Given the description of an element on the screen output the (x, y) to click on. 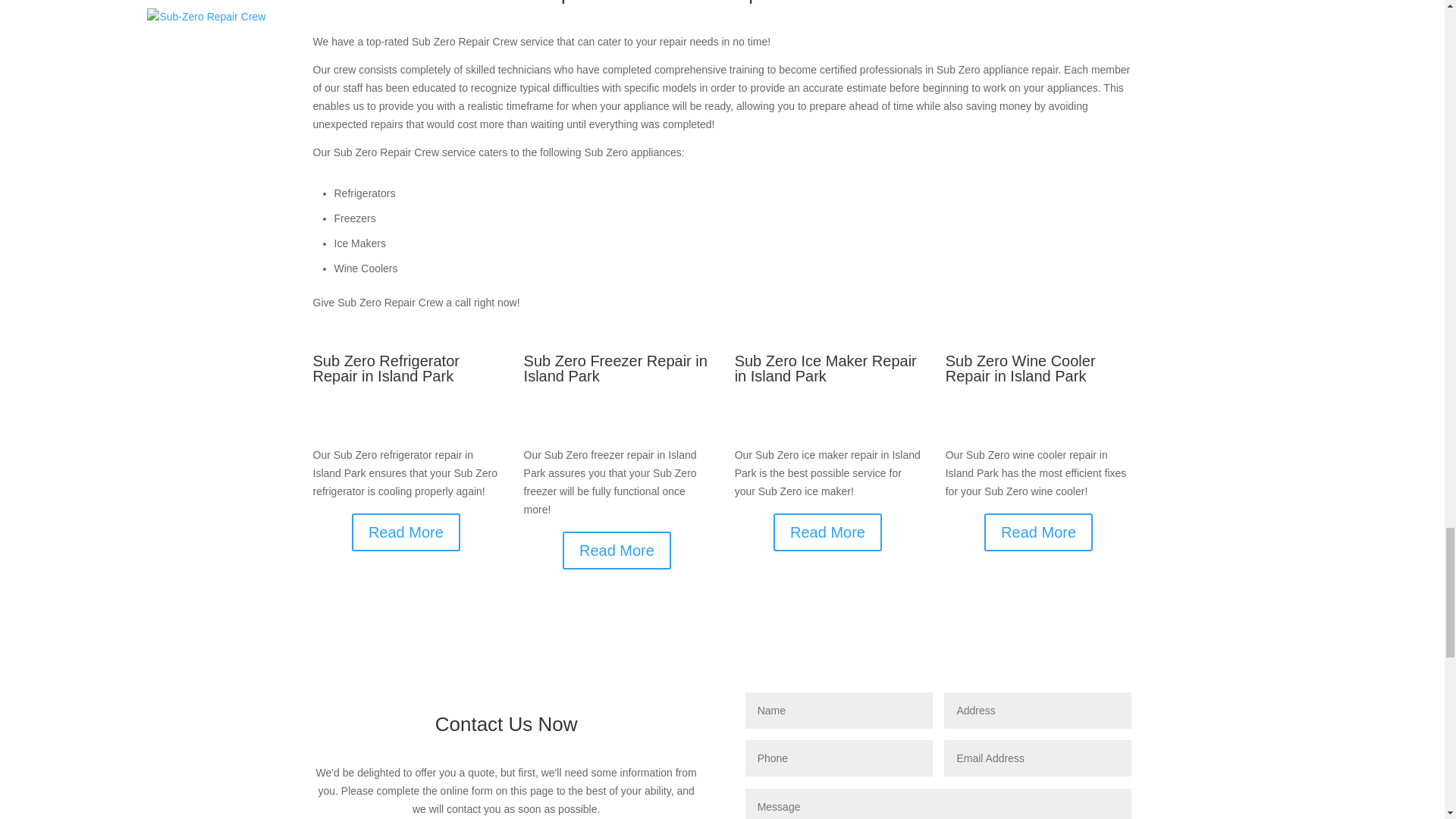
Read More (616, 550)
Read More (406, 532)
Read More (1038, 532)
Read More (827, 532)
